Given the description of an element on the screen output the (x, y) to click on. 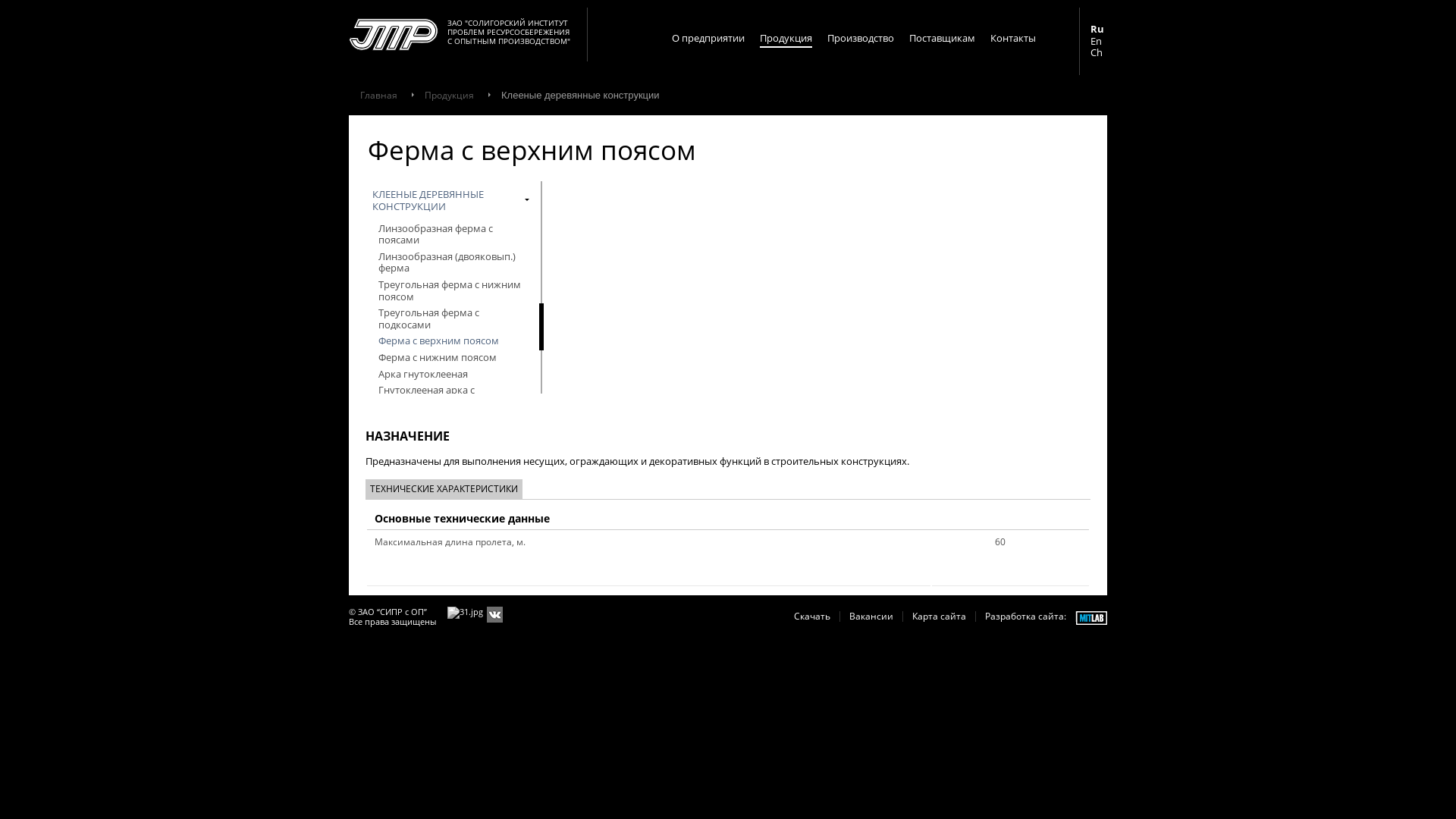
311.jpg Element type: hover (494, 614)
31.jpg Element type: hover (465, 612)
Ch Element type: text (1097, 53)
Ru Element type: text (1097, 29)
En Element type: text (1097, 41)
